Given the description of an element on the screen output the (x, y) to click on. 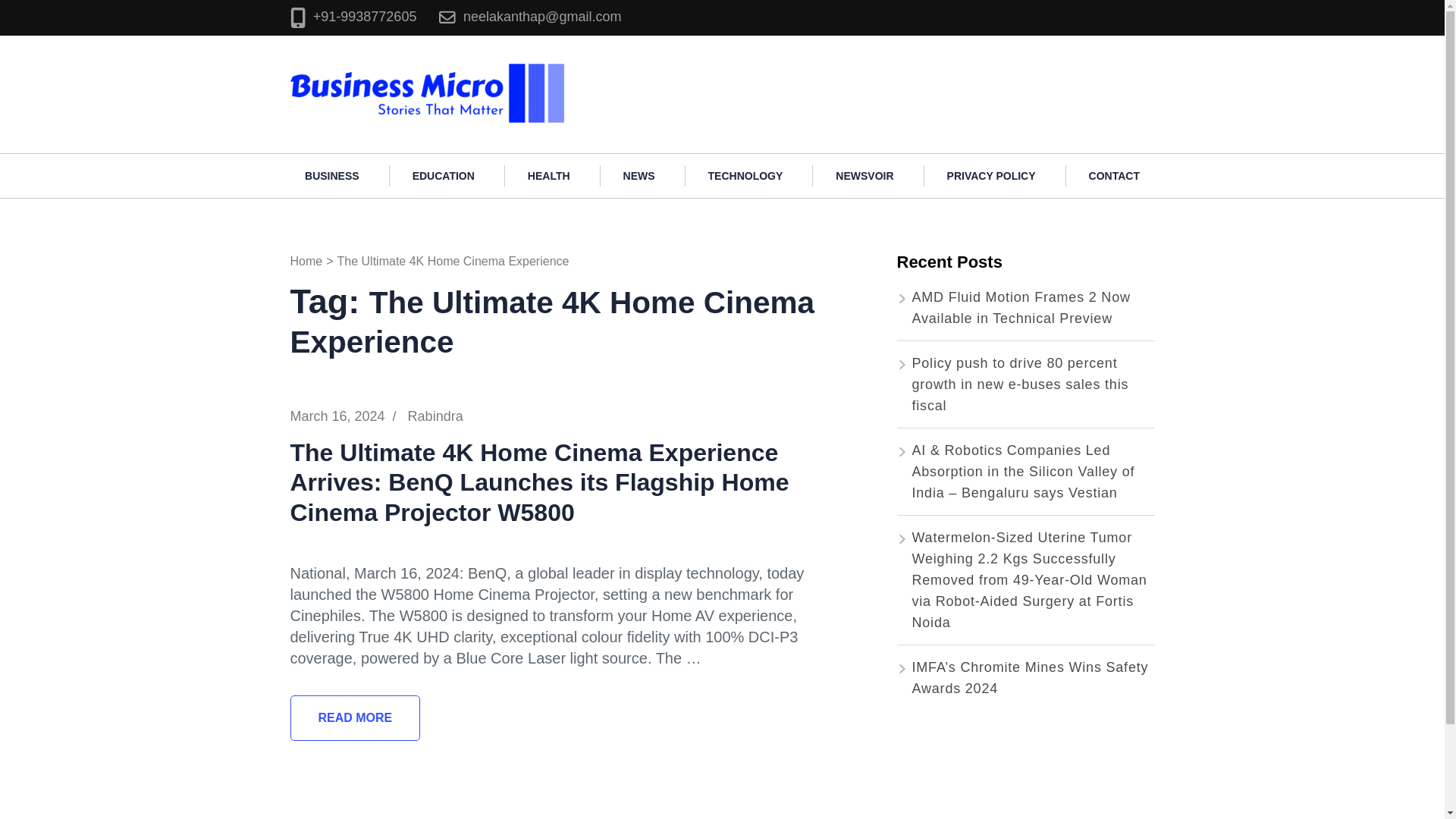
PRIVACY POLICY (991, 175)
TECHNOLOGY (745, 175)
March 16, 2024 (336, 416)
Home (305, 260)
AMD Fluid Motion Frames 2 Now Available in Technical Preview (1020, 307)
Business Micro (628, 68)
BUSINESS (331, 175)
CONTACT (1113, 175)
Rabindra (435, 416)
EDUCATION (444, 175)
NEWS (639, 175)
NEWSVOIR (863, 175)
HEALTH (548, 175)
